Given the description of an element on the screen output the (x, y) to click on. 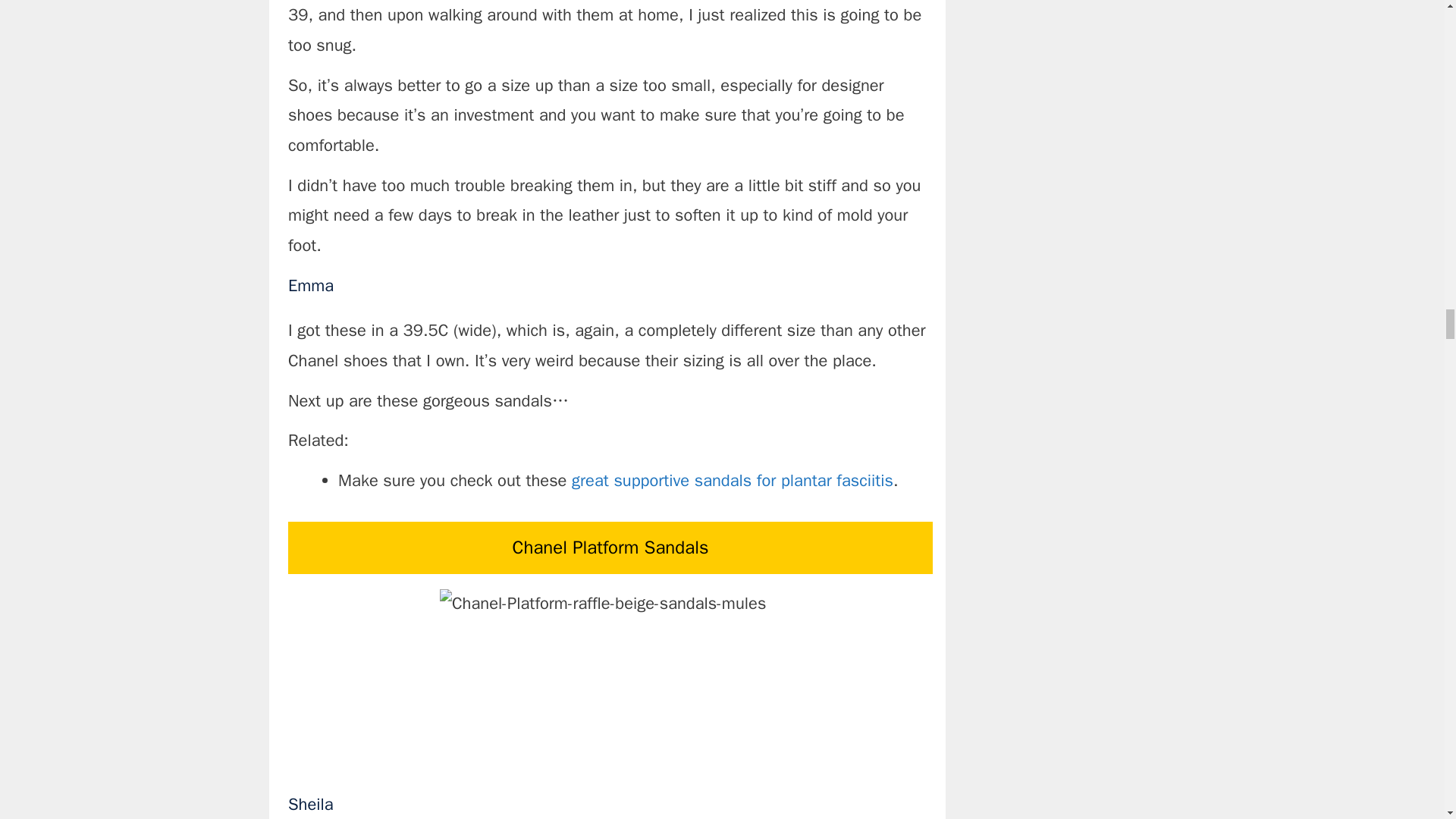
great supportive sandals for plantar fasciitis (732, 480)
